Given the description of an element on the screen output the (x, y) to click on. 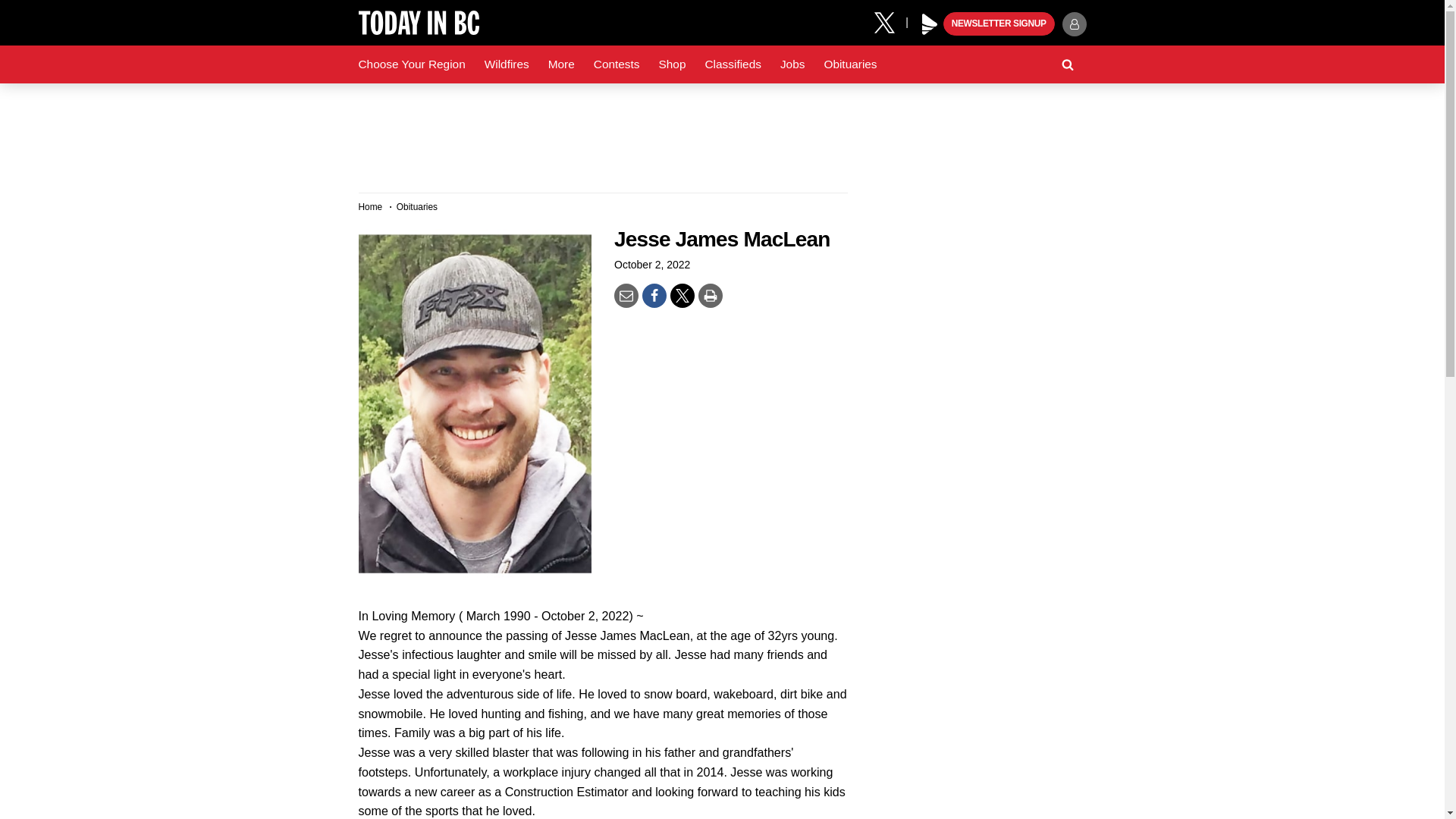
Contests (616, 64)
X (889, 21)
Play (929, 24)
Black Press Media (929, 24)
NEWSLETTER SIGNUP (998, 24)
Wildfires (507, 64)
